Given the description of an element on the screen output the (x, y) to click on. 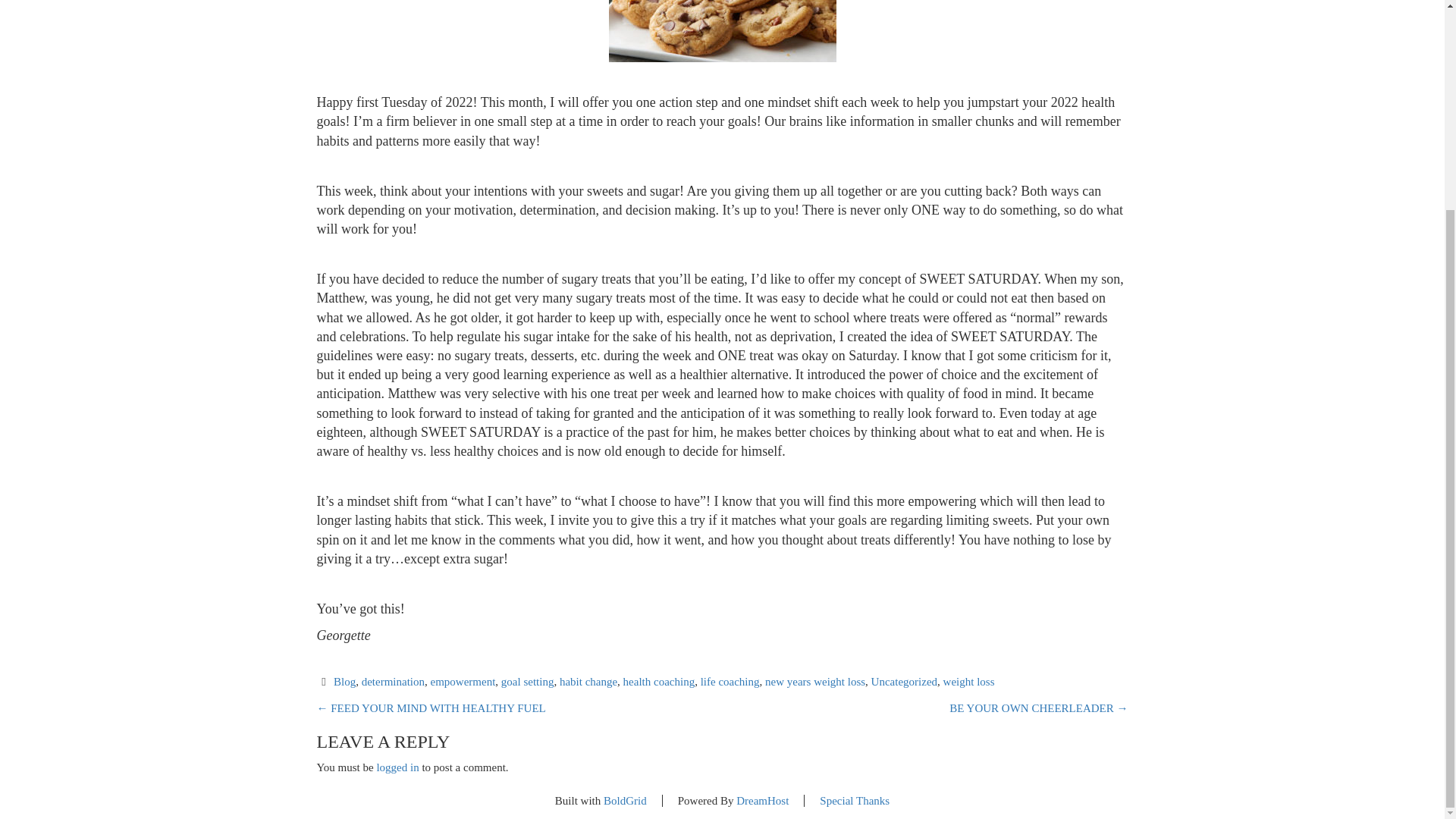
life coaching (730, 681)
habit change (588, 681)
Blog (344, 681)
DreamHost (762, 800)
logged in (397, 767)
health coaching (659, 681)
Special Thanks (854, 800)
determination (393, 681)
BoldGrid (625, 800)
new years weight loss (814, 681)
